Given the description of an element on the screen output the (x, y) to click on. 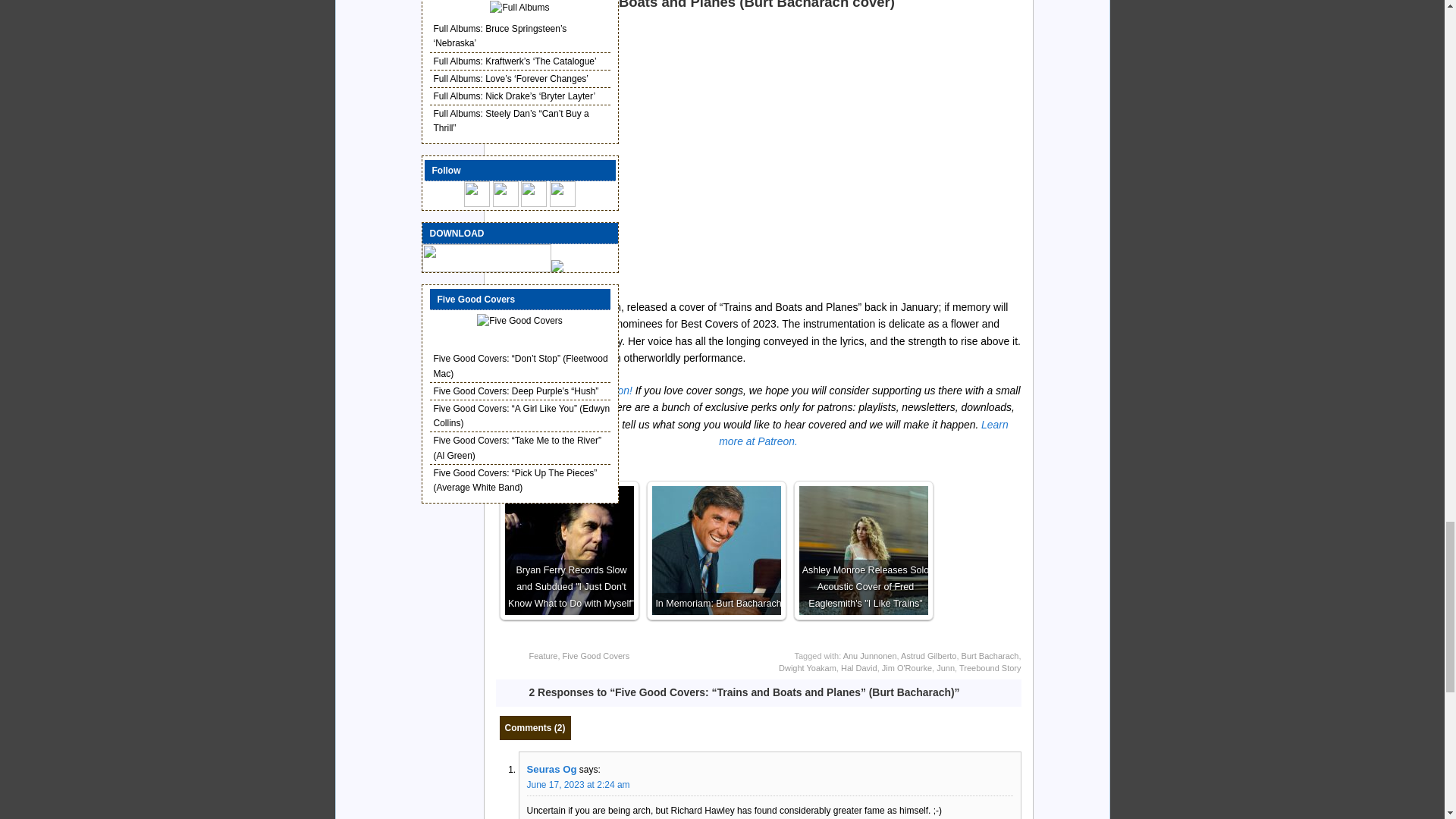
Dwight Yoakam (806, 667)
Jim O'Rourke (906, 667)
Cover Me is now on Patreon! (563, 390)
Five Good Covers (596, 655)
Hal David (859, 667)
Burt Bacharach (989, 655)
Treebound Story (990, 667)
Feature (543, 655)
